Given the description of an element on the screen output the (x, y) to click on. 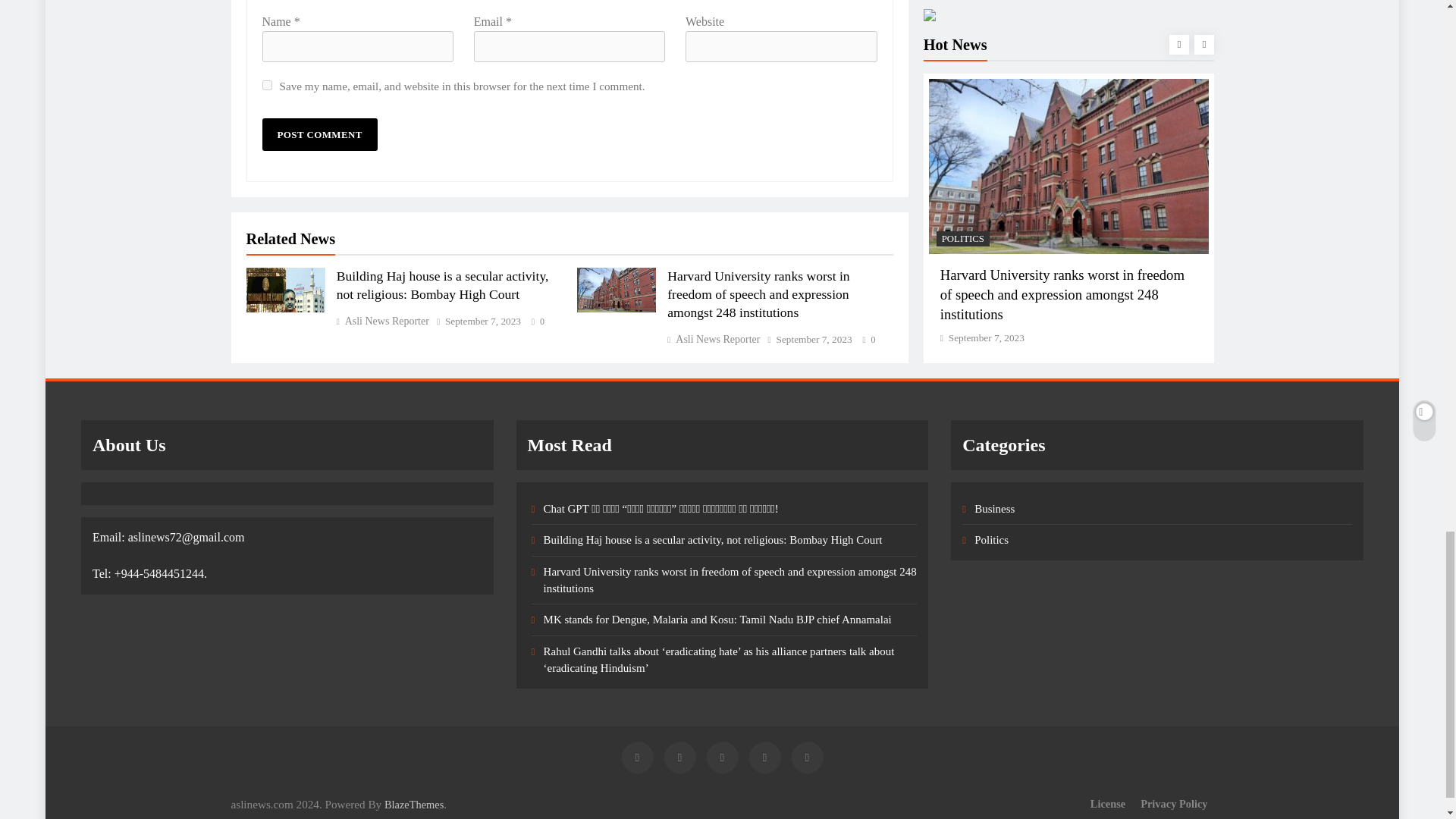
Post Comment (319, 133)
yes (267, 85)
